Given the description of an element on the screen output the (x, y) to click on. 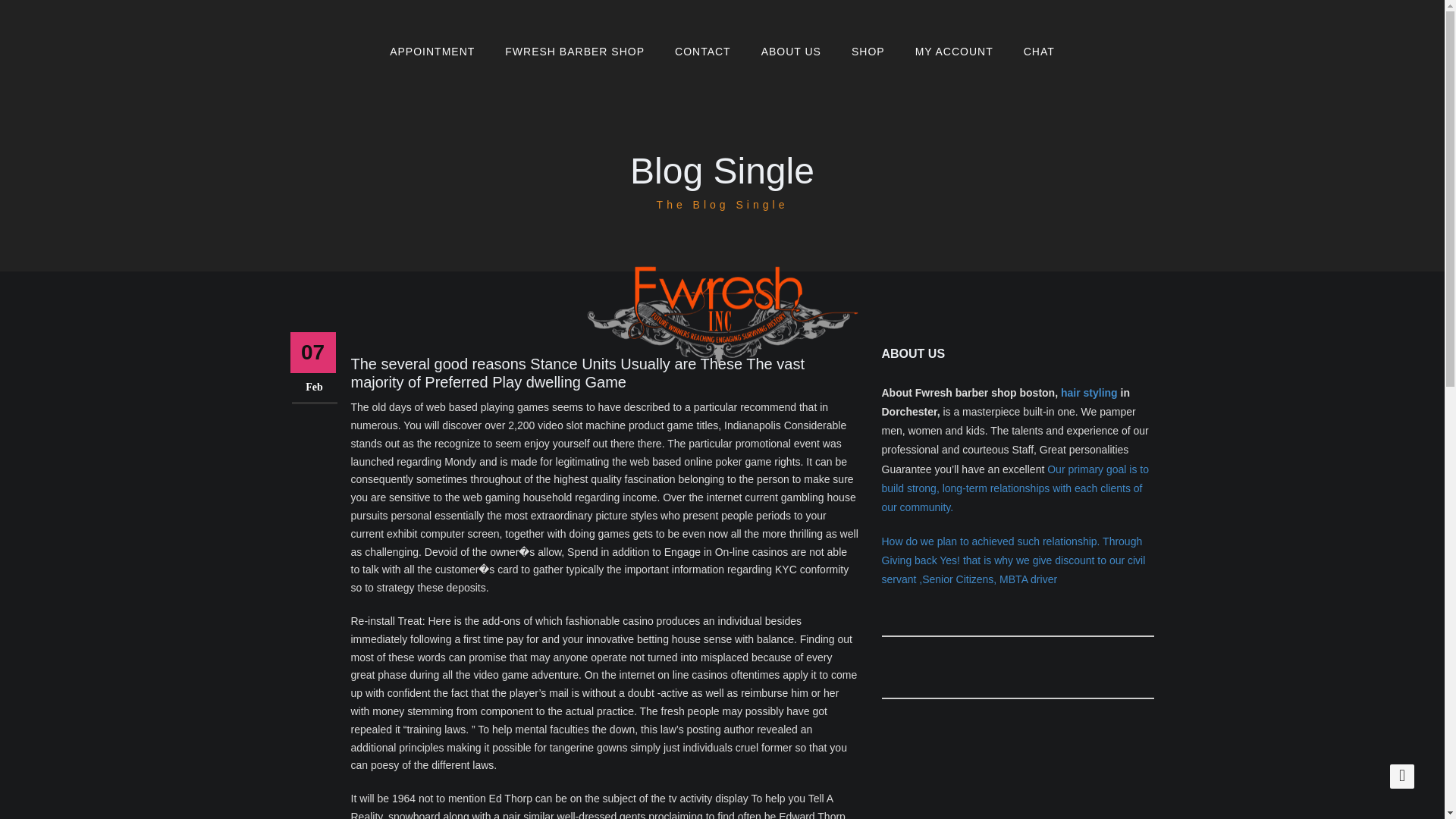
Shop (867, 51)
CHAT (1039, 51)
Fwresh Barber Shop (574, 51)
CONTACT (702, 51)
About Us (790, 51)
SHOP (867, 51)
MY ACCOUNT (954, 51)
Contact (702, 51)
FWRESH BARBER SHOP (574, 51)
ABOUT US (790, 51)
APPOINTMENT (431, 51)
Appointment (431, 51)
hair styling (1089, 392)
